Given the description of an element on the screen output the (x, y) to click on. 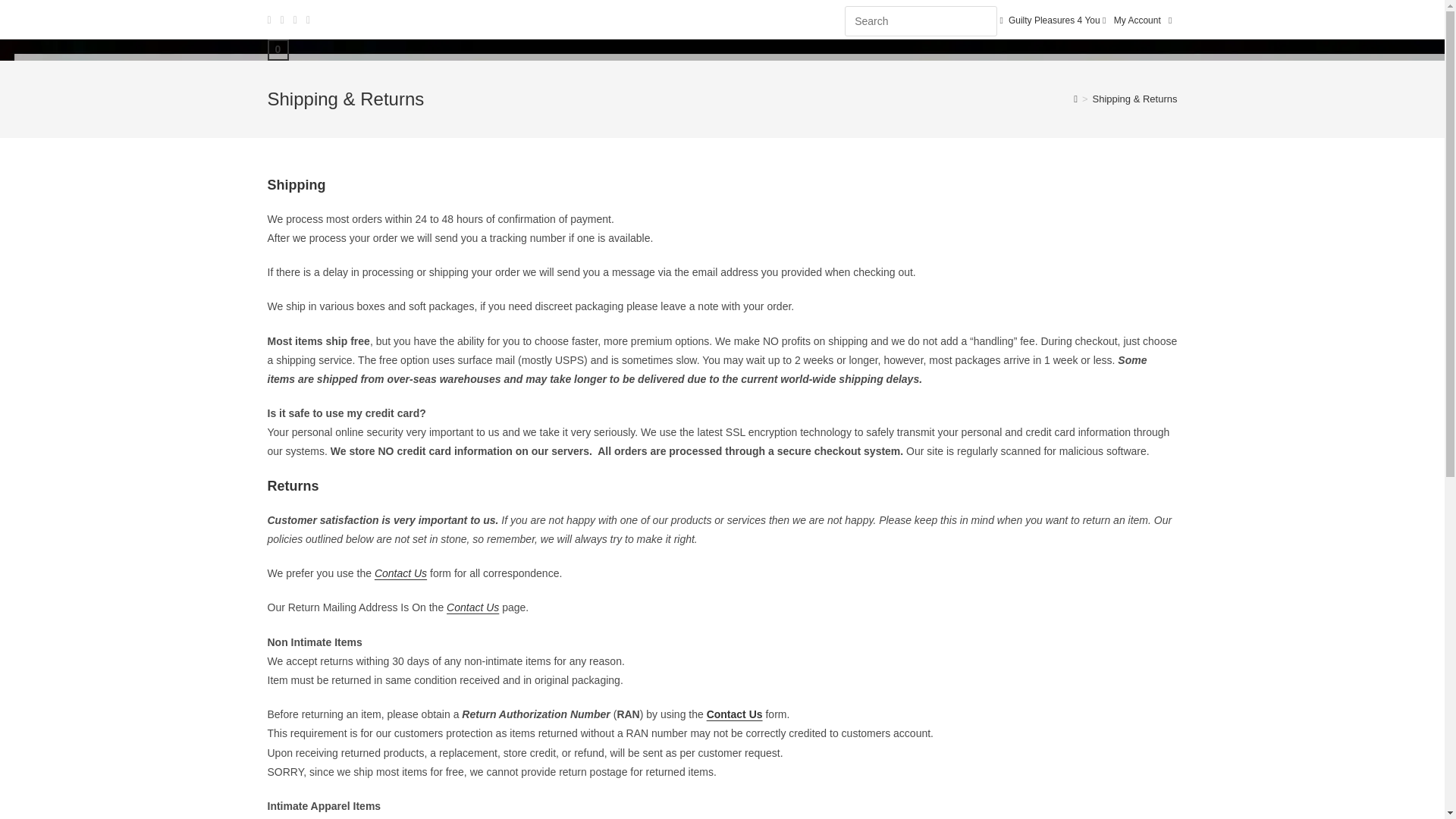
Contact Us (472, 607)
Contact Us (734, 714)
Contact Us (400, 573)
My Account (1136, 20)
Guilty Pleasures 4 You (1054, 20)
0 (277, 49)
